Given the description of an element on the screen output the (x, y) to click on. 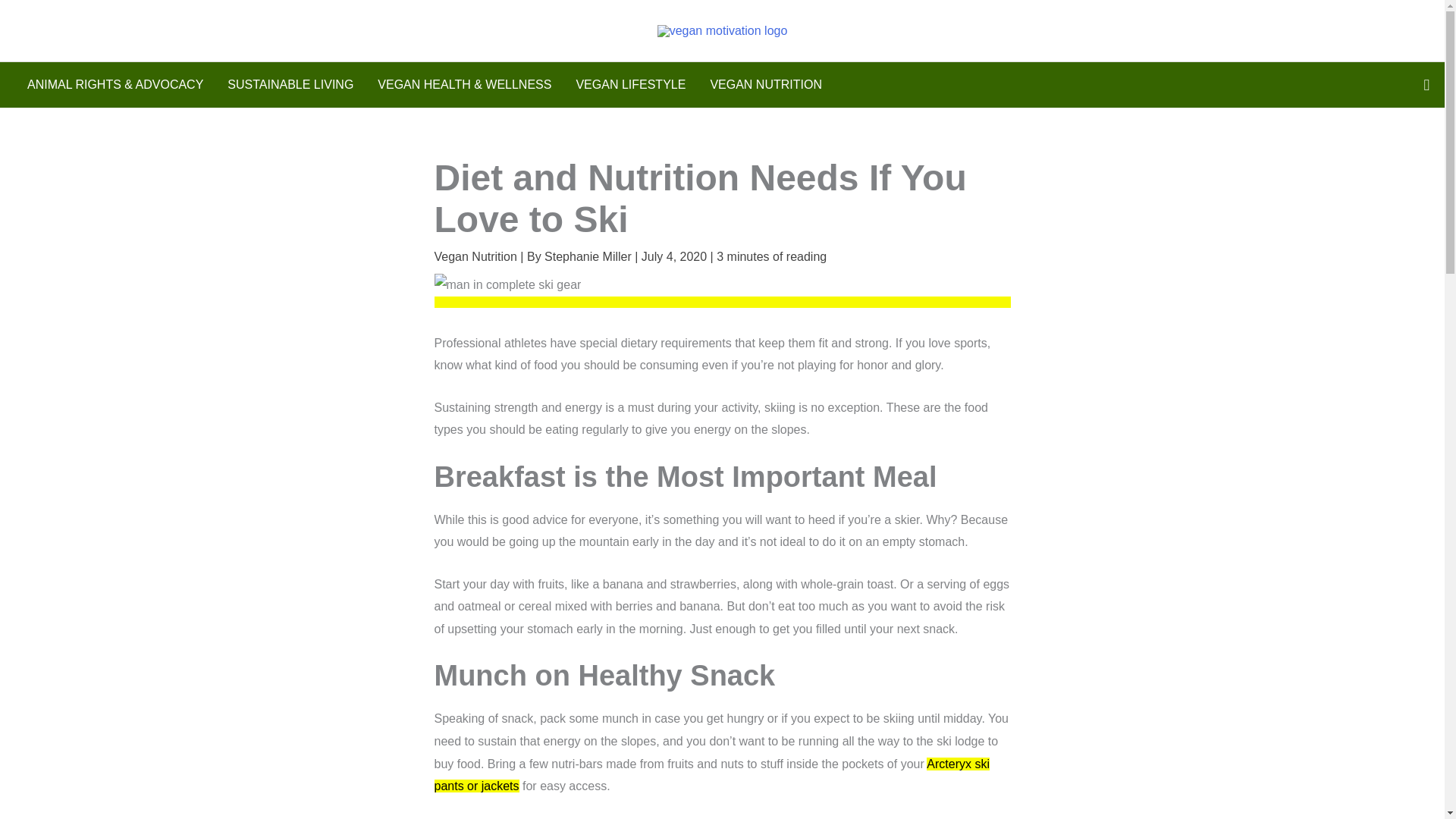
View all posts by Stephanie Miller (589, 256)
Vegan Nutrition (474, 256)
SUSTAINABLE LIVING (290, 84)
VEGAN LIFESTYLE (630, 84)
Pedigree Ski Shop (711, 775)
Stephanie Miller (589, 256)
VEGAN NUTRITION (765, 84)
Arcteryx ski pants or jackets (711, 775)
